Given the description of an element on the screen output the (x, y) to click on. 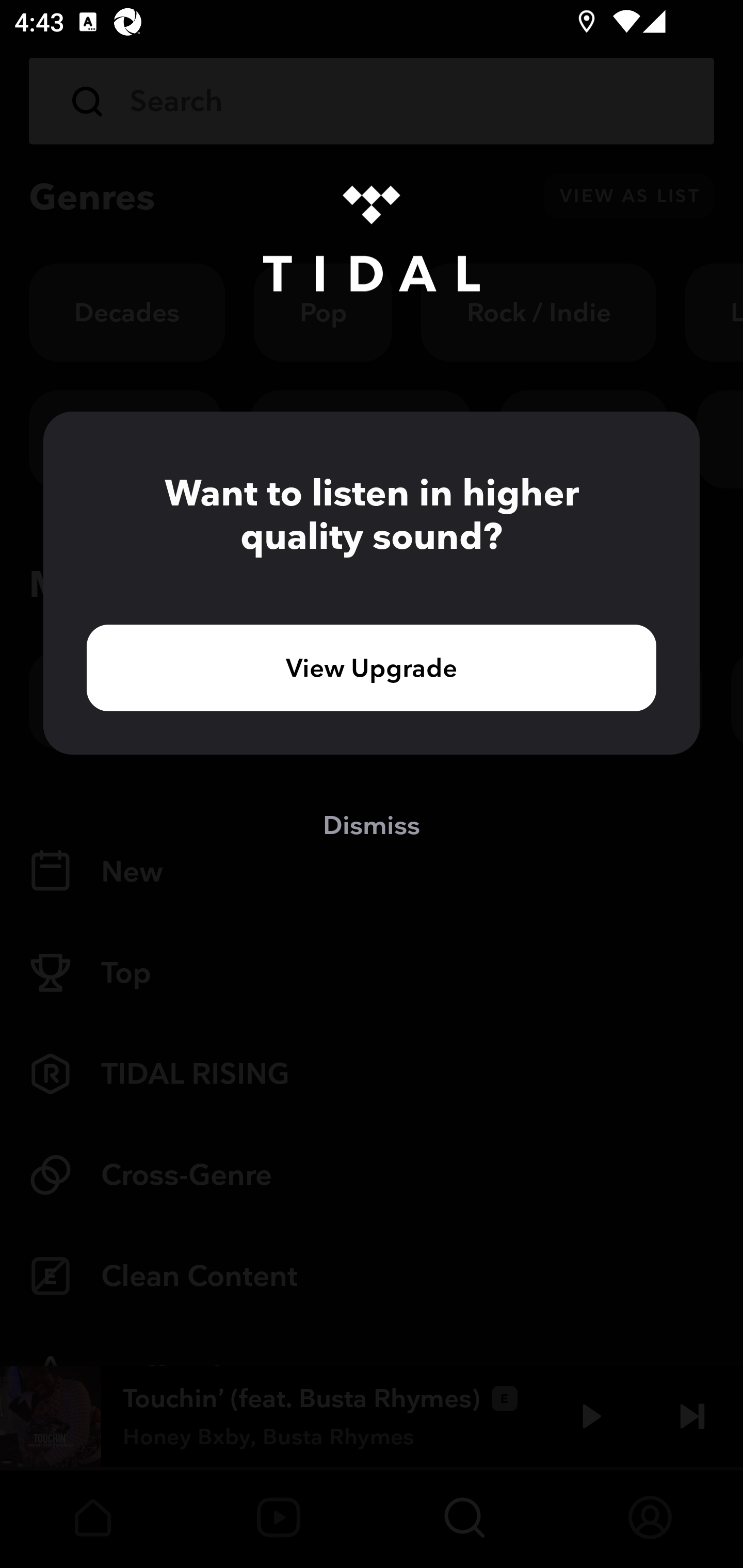
View Upgrade (371, 667)
Dismiss (371, 824)
